Given the description of an element on the screen output the (x, y) to click on. 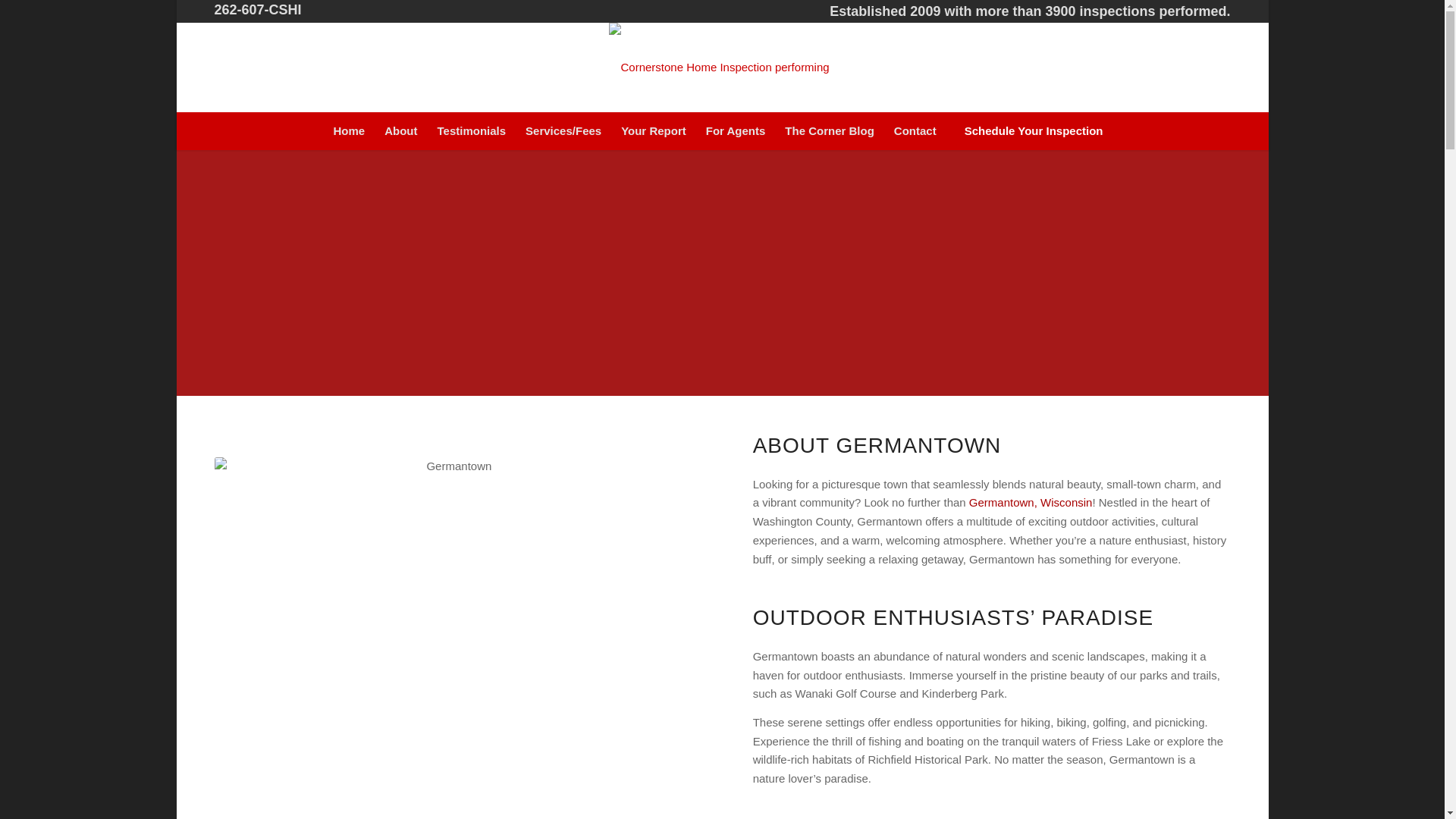
About (400, 130)
Home (348, 130)
262-607-CSHI (257, 9)
Your Report (653, 130)
For Agents (735, 130)
Contact (914, 130)
The Corner Blog (828, 130)
Testimonials (470, 130)
